Given the description of an element on the screen output the (x, y) to click on. 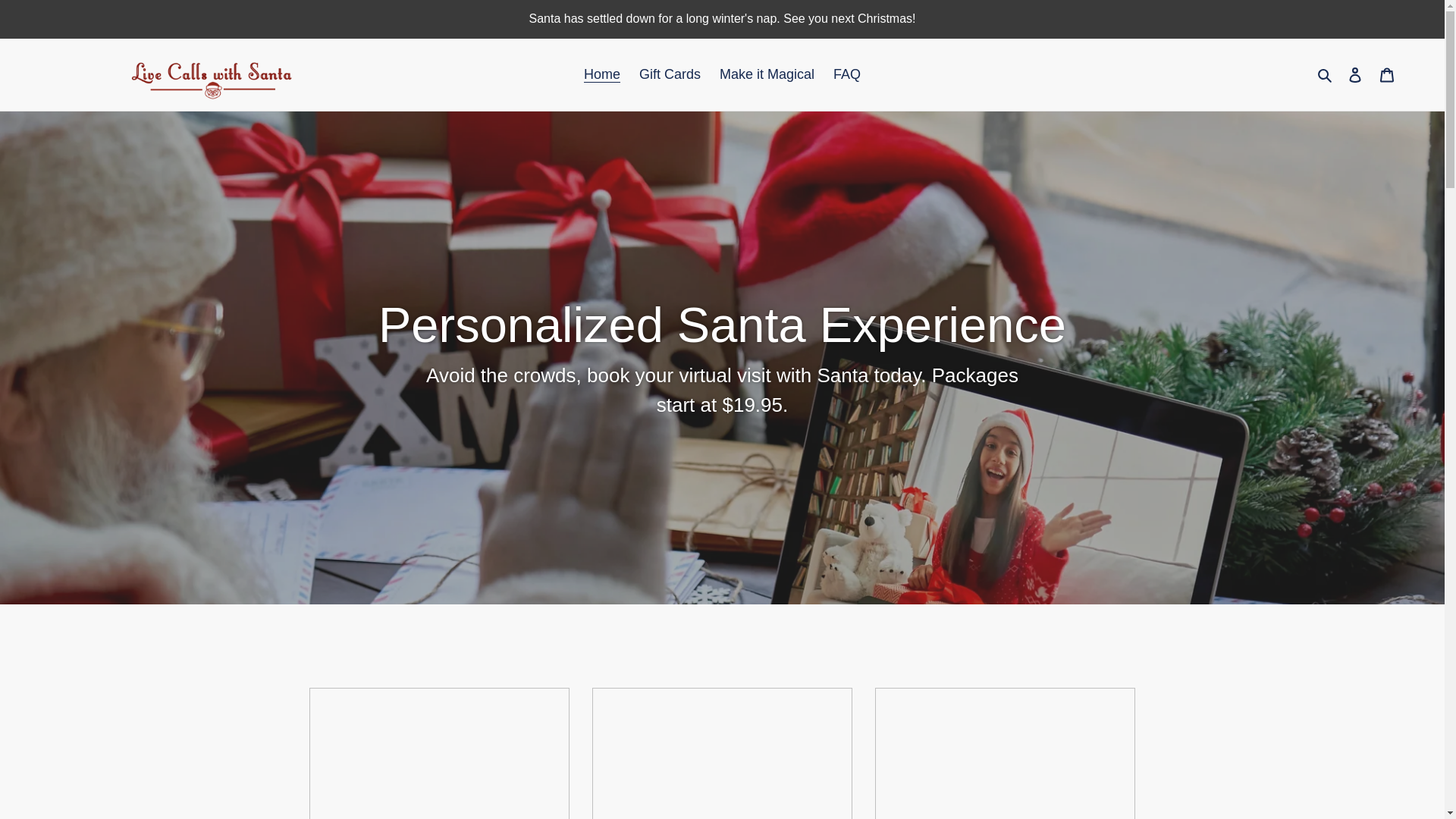
Home (601, 74)
FAQ (846, 74)
Make it Magical (766, 74)
Log in (1355, 74)
Gift Cards (669, 74)
Search (1326, 74)
Cart (1387, 74)
